Given the description of an element on the screen output the (x, y) to click on. 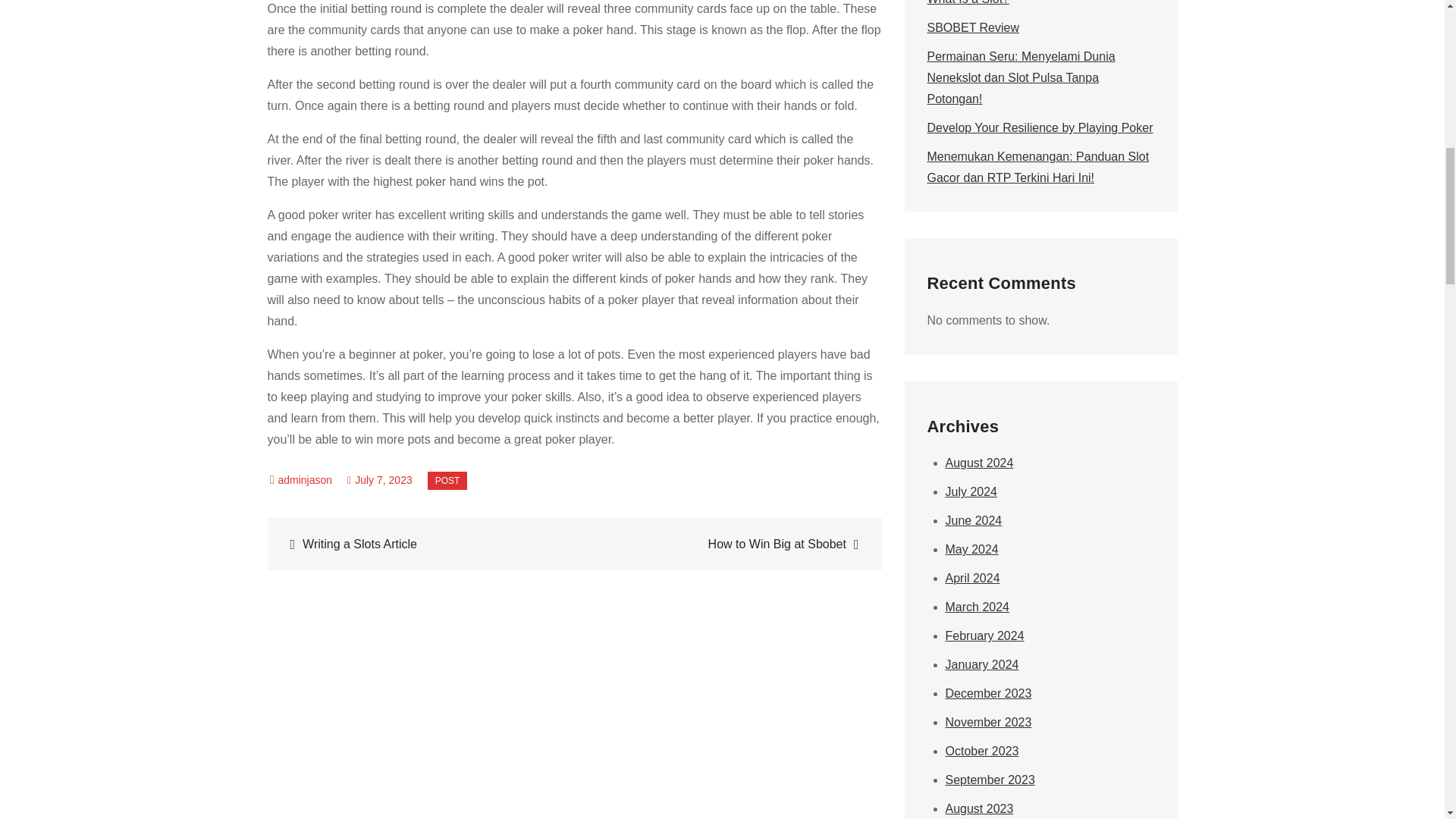
January 2024 (980, 664)
October 2023 (980, 750)
August 2023 (978, 808)
What Is a Slot? (967, 2)
Develop Your Resilience by Playing Poker (1039, 127)
SBOBET Review (972, 27)
August 2024 (978, 462)
April 2024 (971, 577)
July 7, 2023 (379, 480)
Writing a Slots Article (421, 544)
